Given the description of an element on the screen output the (x, y) to click on. 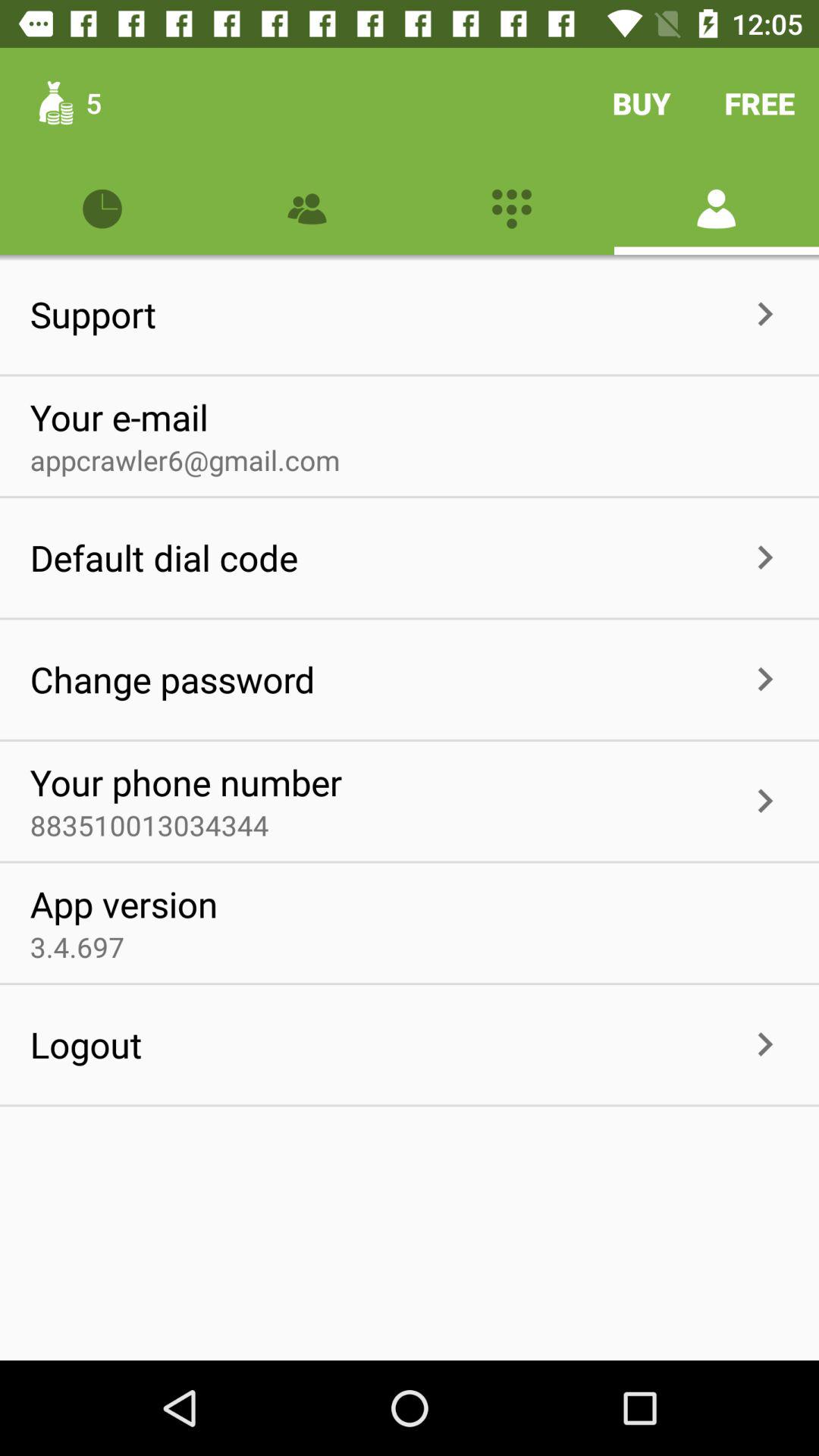
turn off the item next to the default dial code (519, 557)
